Given the description of an element on the screen output the (x, y) to click on. 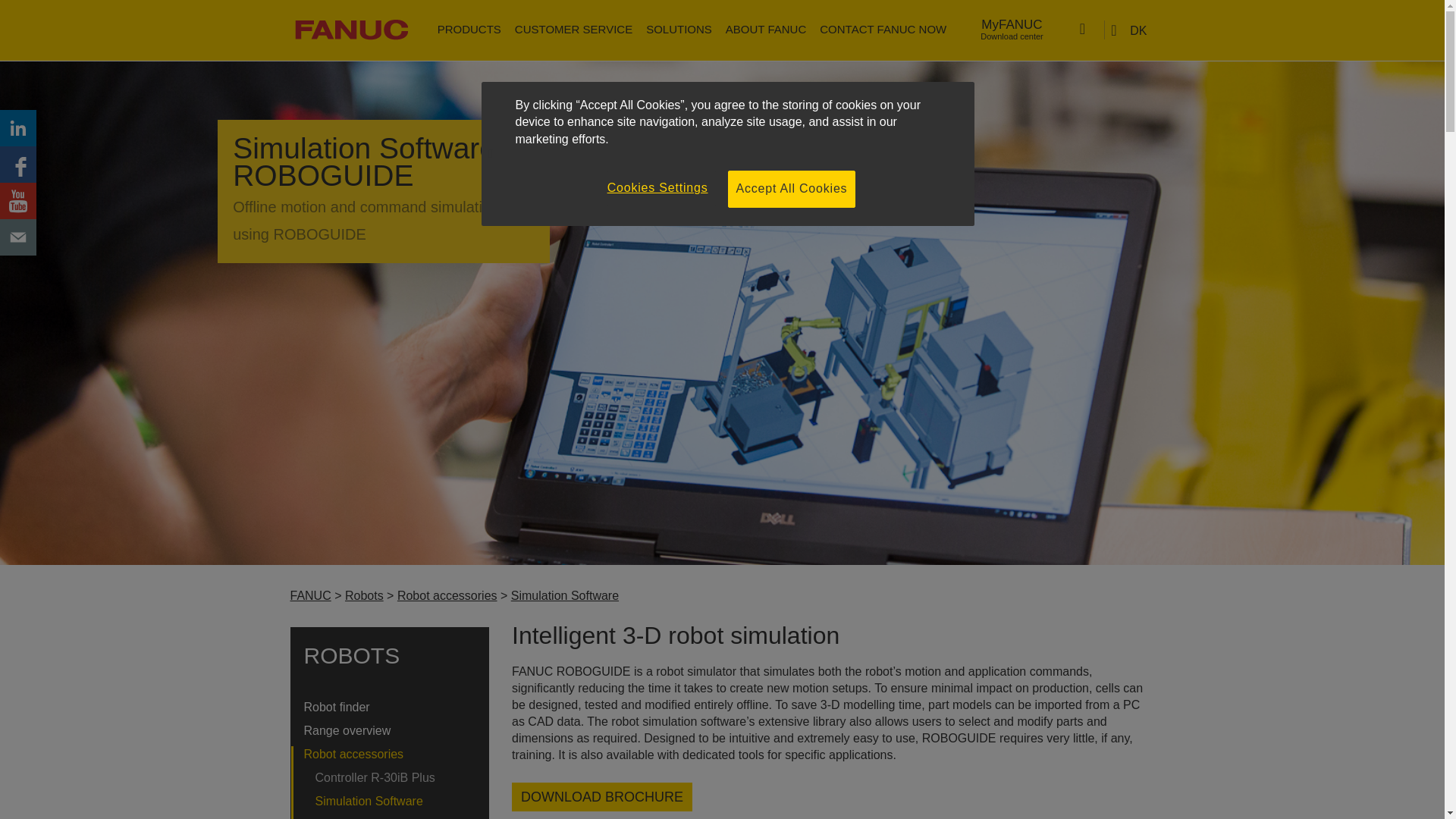
DK (1129, 29)
CUSTOMER SERVICE (573, 29)
PRODUCTS (469, 29)
SOLUTIONS (678, 29)
ABOUT FANUC (765, 29)
CONTACT FANUC NOW (1011, 29)
fanuc (882, 29)
